Given the description of an element on the screen output the (x, y) to click on. 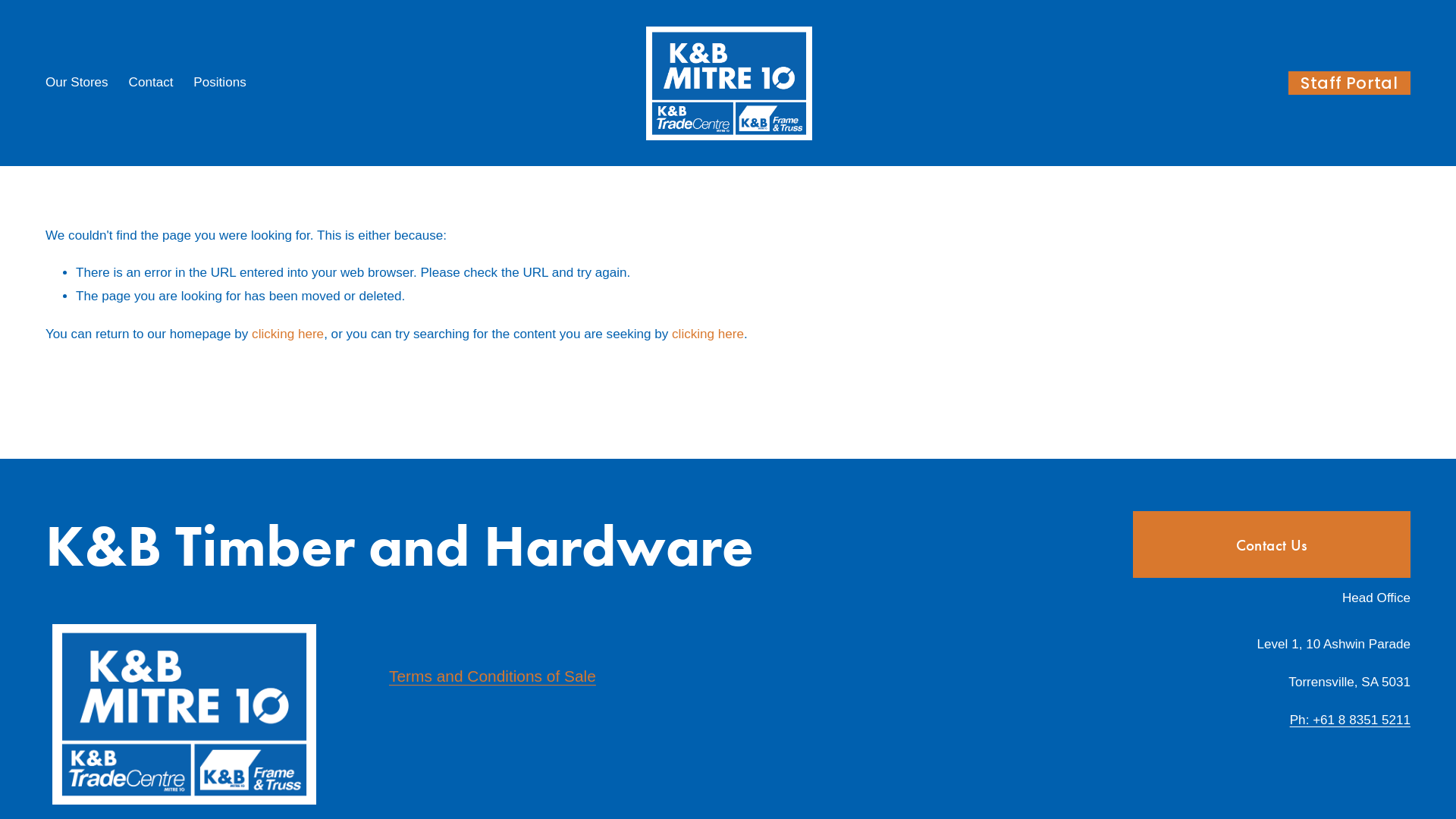
Contact Element type: text (150, 82)
Positions Element type: text (219, 82)
Ph: +61 8 8351 5211 Element type: text (1349, 720)
Contact Us Element type: text (1271, 544)
clicking here Element type: text (707, 333)
Terms and Conditions of Sale Element type: text (492, 676)
clicking here Element type: text (287, 333)
Our Stores Element type: text (76, 82)
Staff Portal Element type: text (1349, 82)
